Given the description of an element on the screen output the (x, y) to click on. 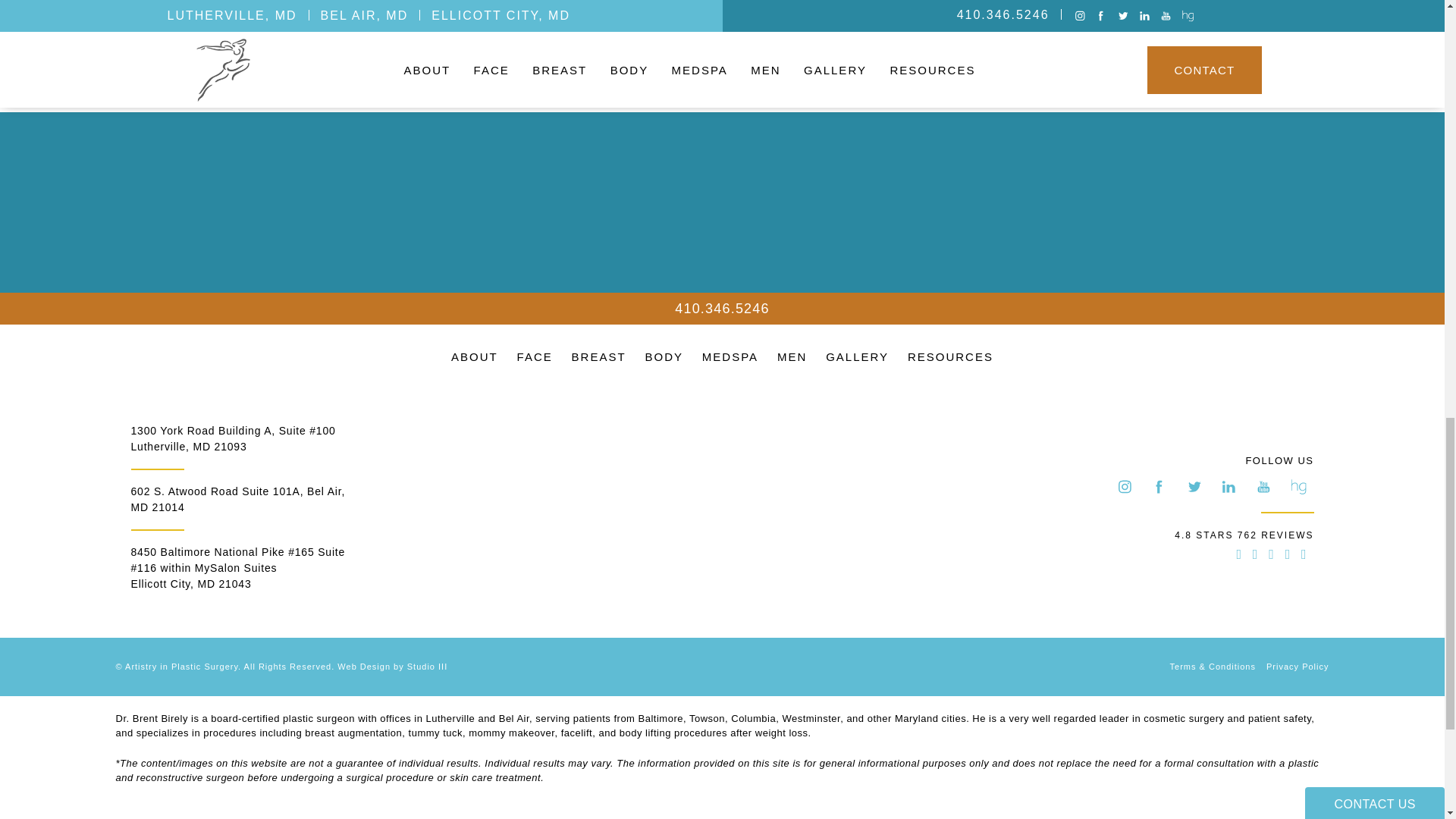
Artistry in Plastic Surgery on Facebook (1159, 486)
Artistry in Plastic Surgery on Instagram (1124, 486)
